Given the description of an element on the screen output the (x, y) to click on. 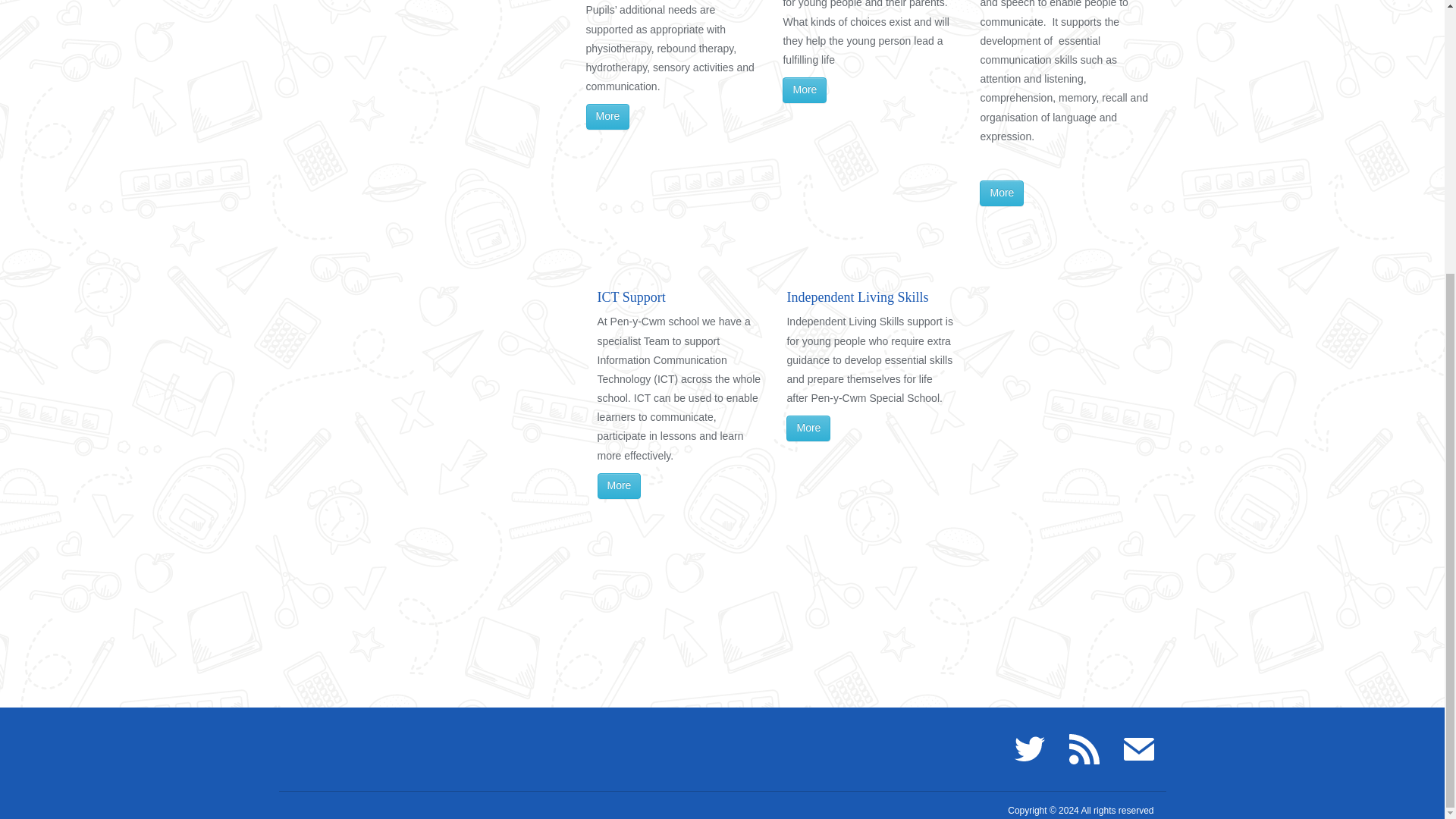
More (807, 428)
More (606, 116)
More (1001, 193)
Email (1139, 748)
RSS feed (1083, 748)
Twitter (1029, 748)
More (619, 485)
More (805, 89)
